Given the description of an element on the screen output the (x, y) to click on. 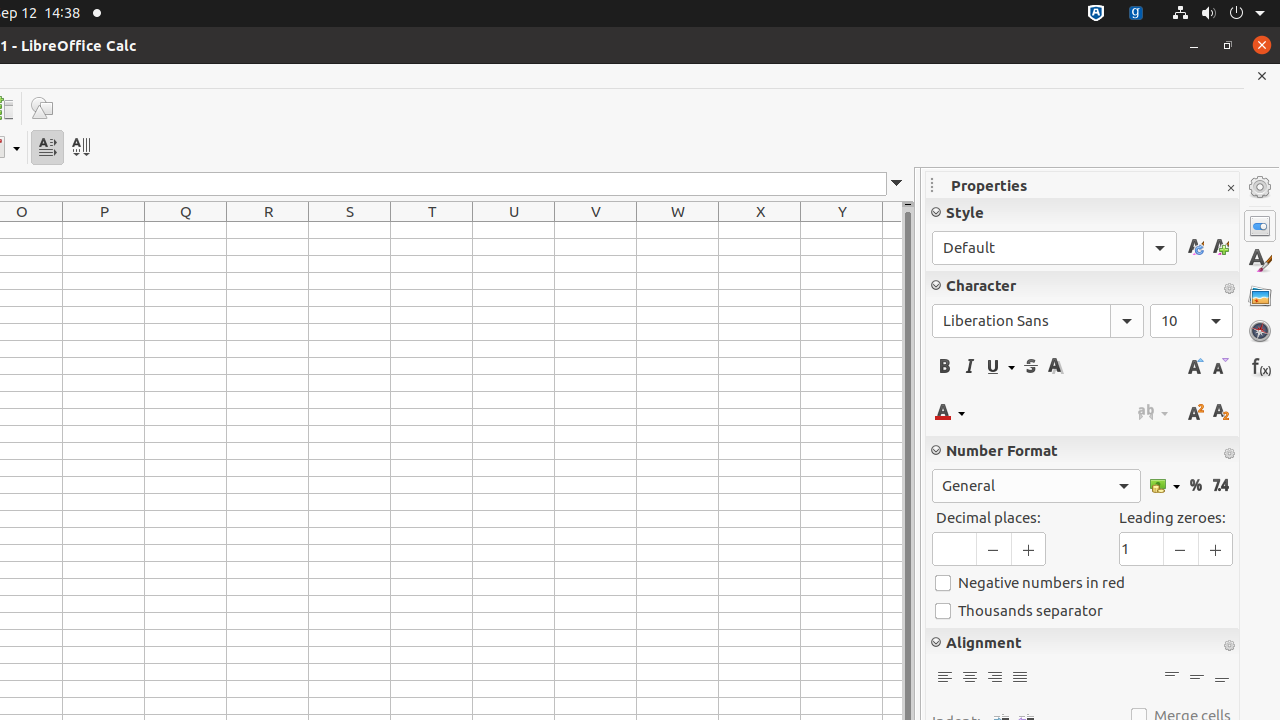
Update Element type: push-button (1195, 247)
R1 Element type: table-cell (268, 230)
Align Left Element type: toggle-button (944, 677)
U1 Element type: table-cell (514, 230)
T1 Element type: table-cell (432, 230)
